Given the description of an element on the screen output the (x, y) to click on. 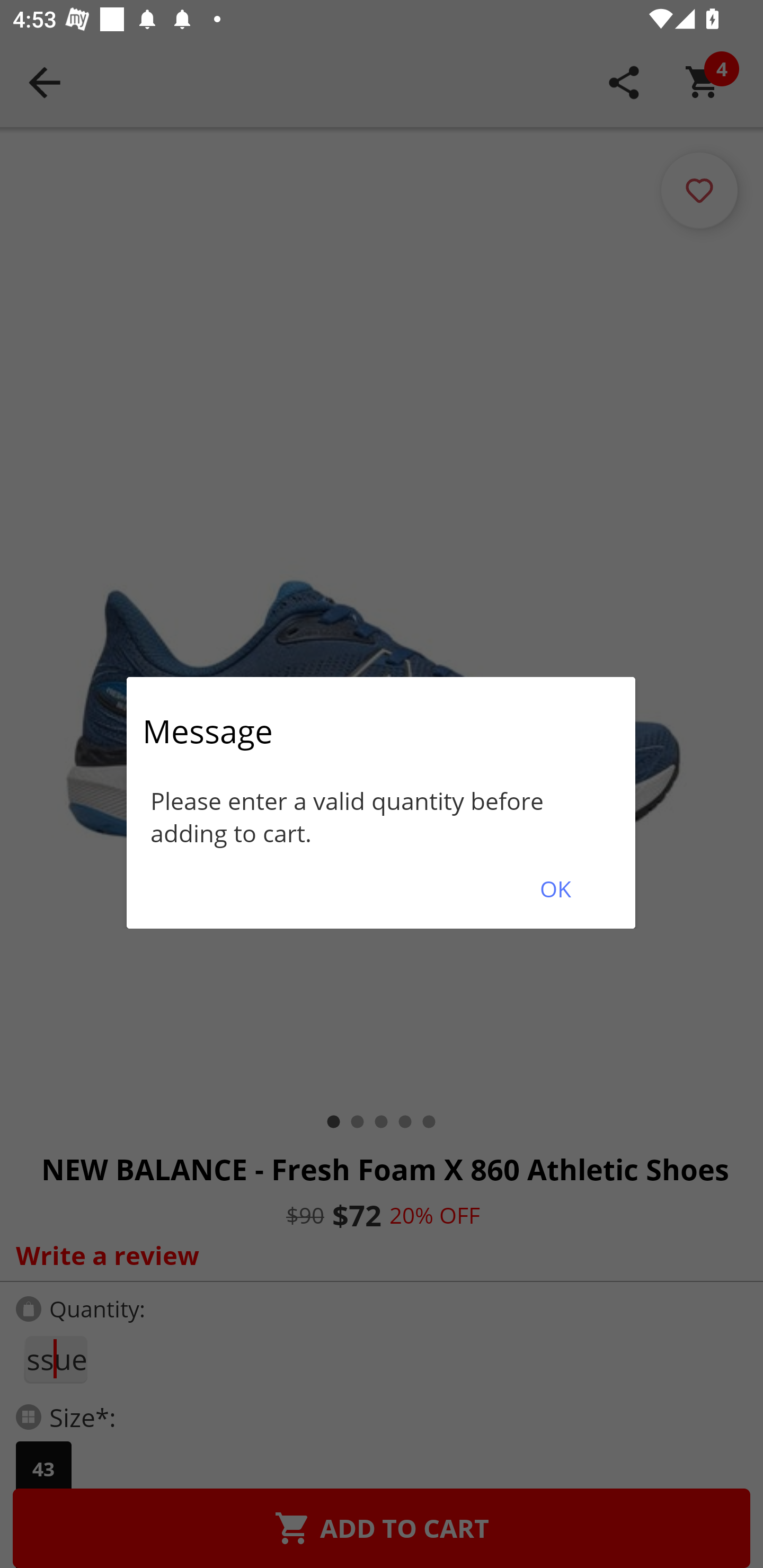
OK (555, 888)
